Given the description of an element on the screen output the (x, y) to click on. 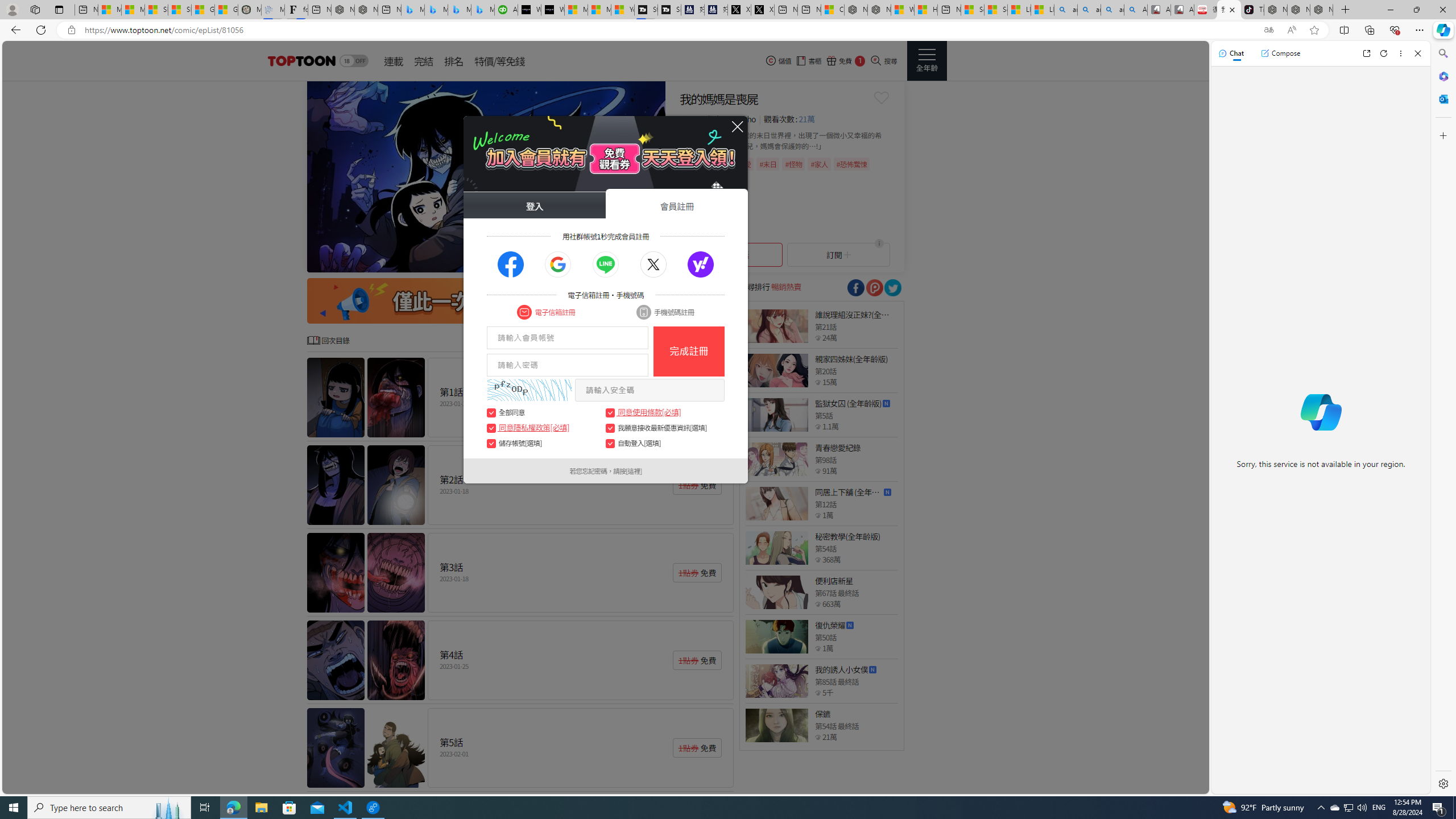
captcha (529, 390)
Side bar (1443, 418)
Microsoft Bing Travel - Stays in Bangkok, Bangkok, Thailand (435, 9)
Go to slide 5 (606, 261)
Accounting Software for Accountants, CPAs and Bookkeepers (505, 9)
Chat (1231, 52)
Go to slide 6 (615, 261)
